Given the description of an element on the screen output the (x, y) to click on. 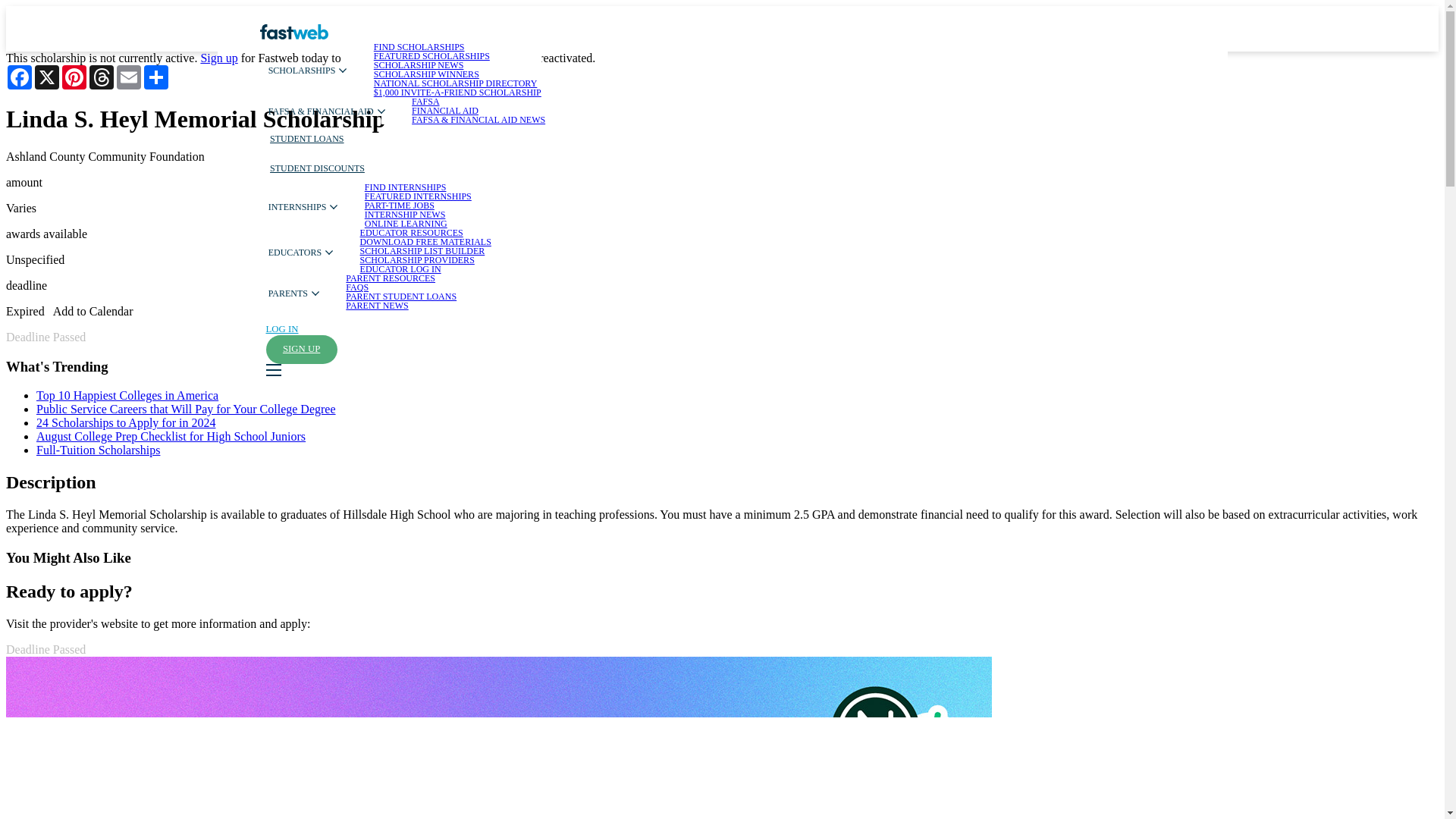
STUDENT DISCOUNTS (317, 167)
DOWNLOAD FREE MATERIALS (425, 241)
INTERNSHIP NEWS (405, 214)
SIGN UP (300, 348)
FIND SCHOLARSHIPS (419, 46)
FEATURED INTERNSHIPS (418, 195)
STUDENT LOANS (306, 138)
NATIONAL SCHOLARSHIP DIRECTORY (455, 82)
FAFSA (425, 101)
EDUCATOR RESOURCES (411, 232)
